Given the description of an element on the screen output the (x, y) to click on. 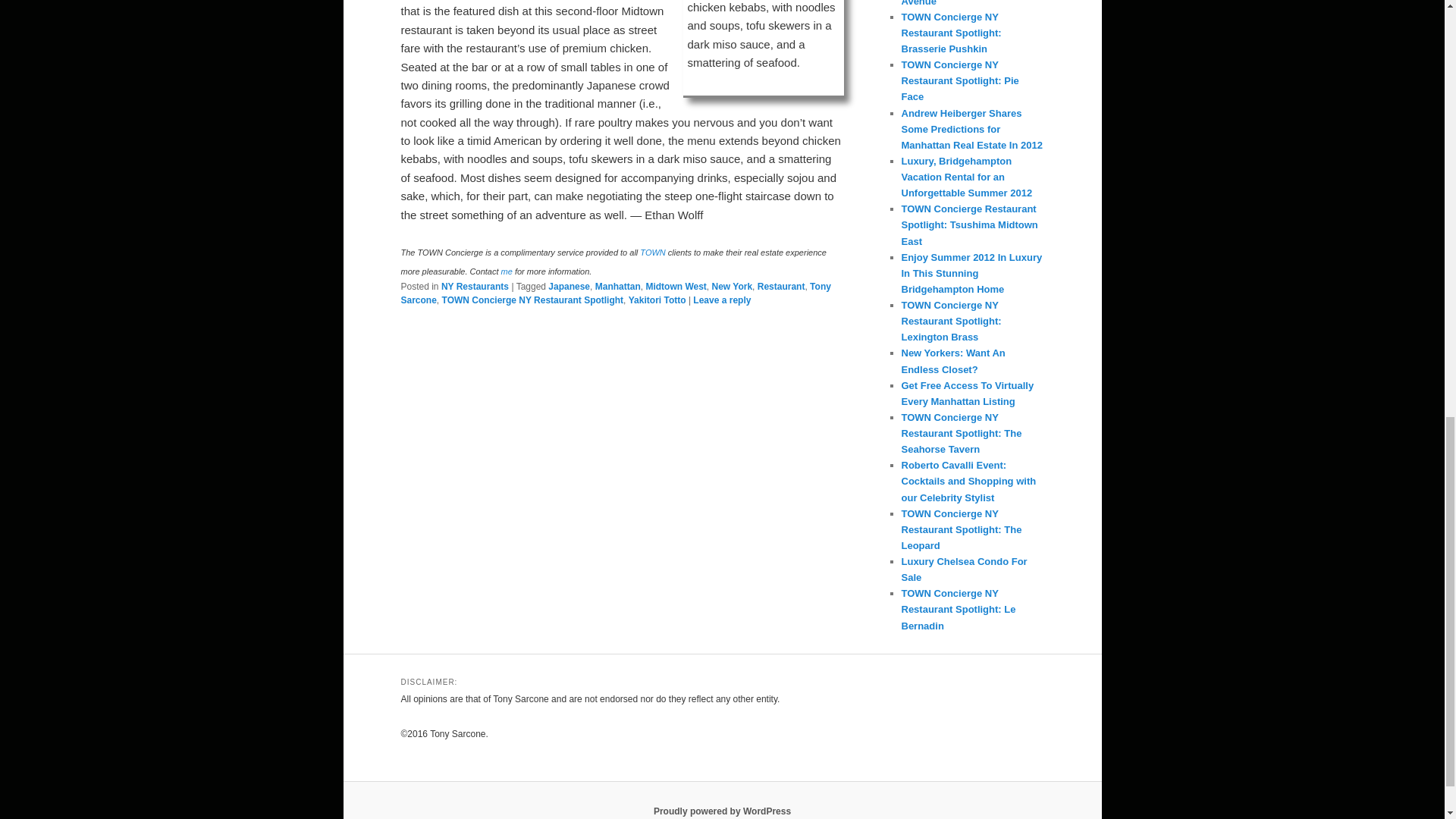
me (506, 271)
TOWN Concierge NY Restaurant Spotlight: Brasserie Pushkin (951, 32)
Midtown West (675, 286)
TOWN Concierge NY Restaurant Spotlight (533, 299)
NY Restaurants (474, 286)
Manhattan (617, 286)
Architectural History: Manhattan Place at 630 First Avenue (967, 2)
Semantic Personal Publishing Platform (721, 810)
Leave a reply (722, 299)
Tony Sarcone (614, 293)
Japanese (568, 286)
Yakitori Totto (656, 299)
Restaurant (781, 286)
New York (731, 286)
TOWN (652, 252)
